Given the description of an element on the screen output the (x, y) to click on. 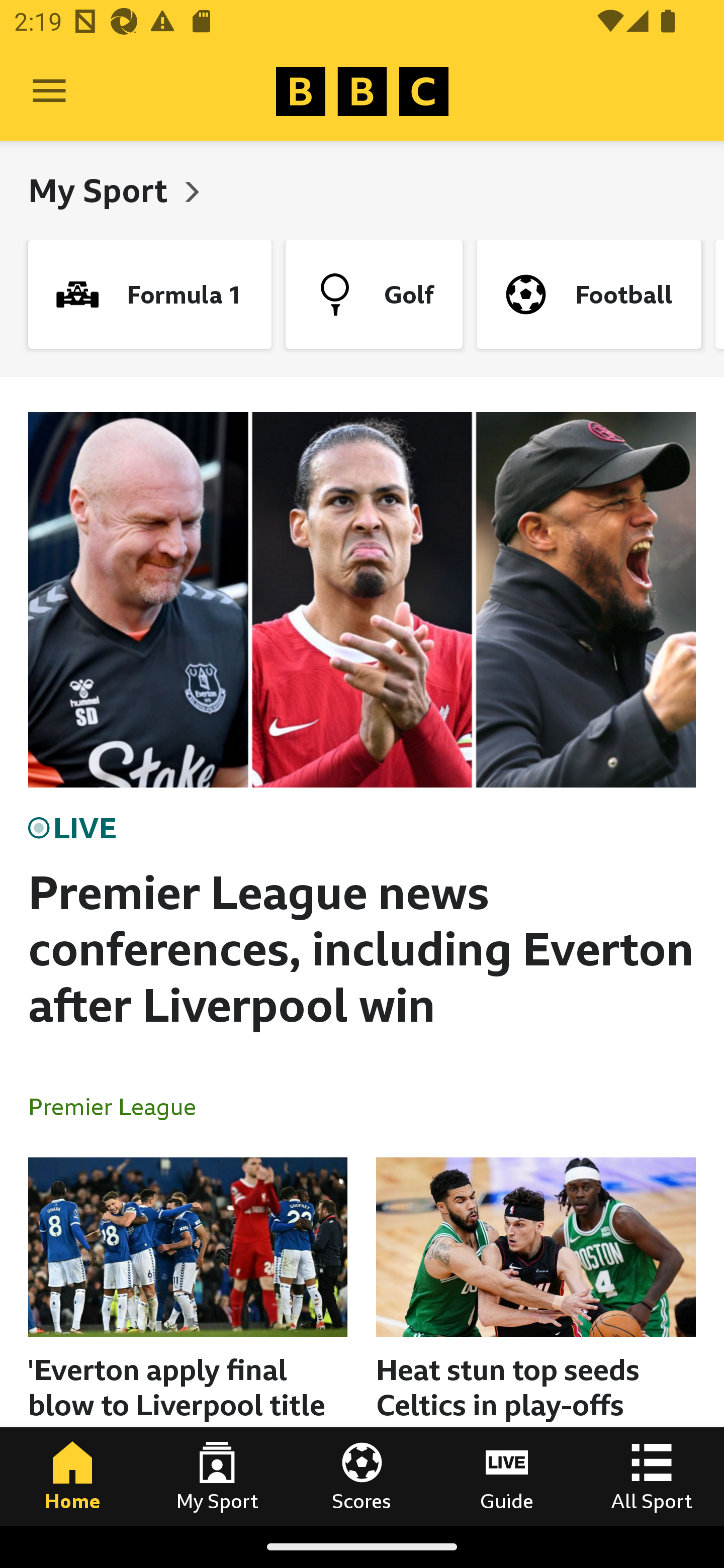
Open Menu (49, 91)
My Sport (101, 190)
Premier League In the section Premier League (119, 1106)
My Sport (216, 1475)
Scores (361, 1475)
Guide (506, 1475)
All Sport (651, 1475)
